Given the description of an element on the screen output the (x, y) to click on. 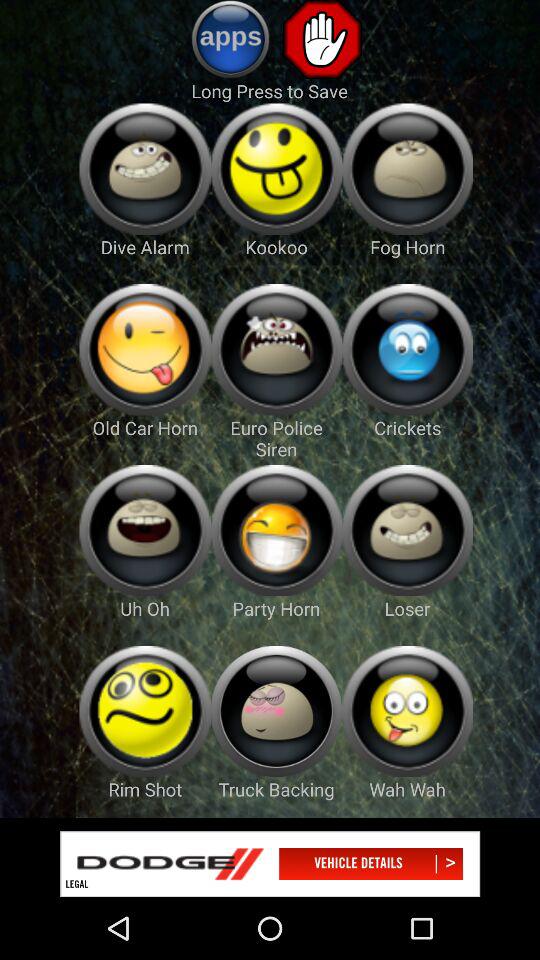
find more apps (230, 39)
